Given the description of an element on the screen output the (x, y) to click on. 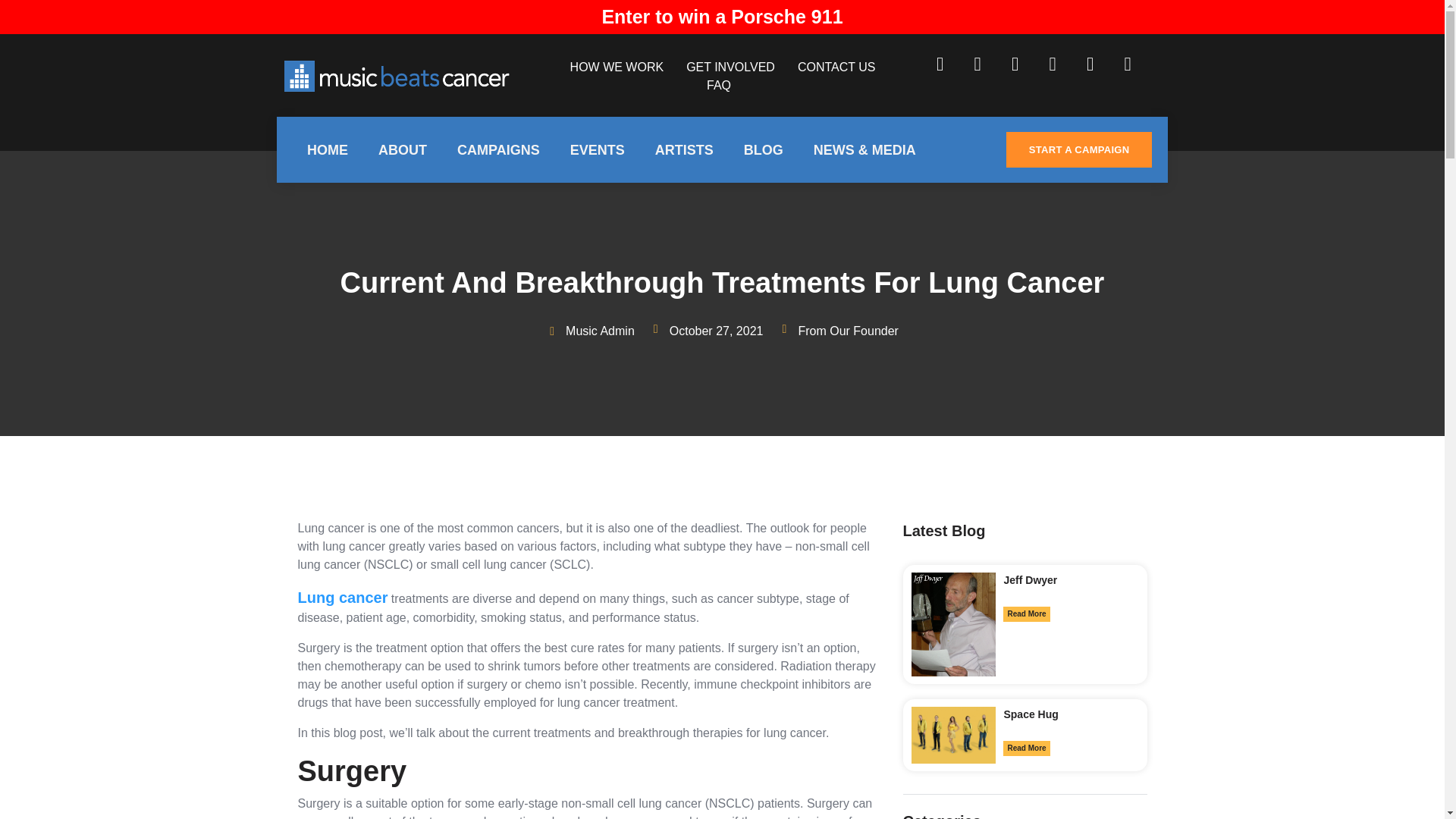
GET INVOLVED (729, 66)
Enter to win a Porsche 911 (722, 16)
HOW WE WORK (616, 66)
CONTACT US (836, 66)
FAQ (718, 84)
